Given the description of an element on the screen output the (x, y) to click on. 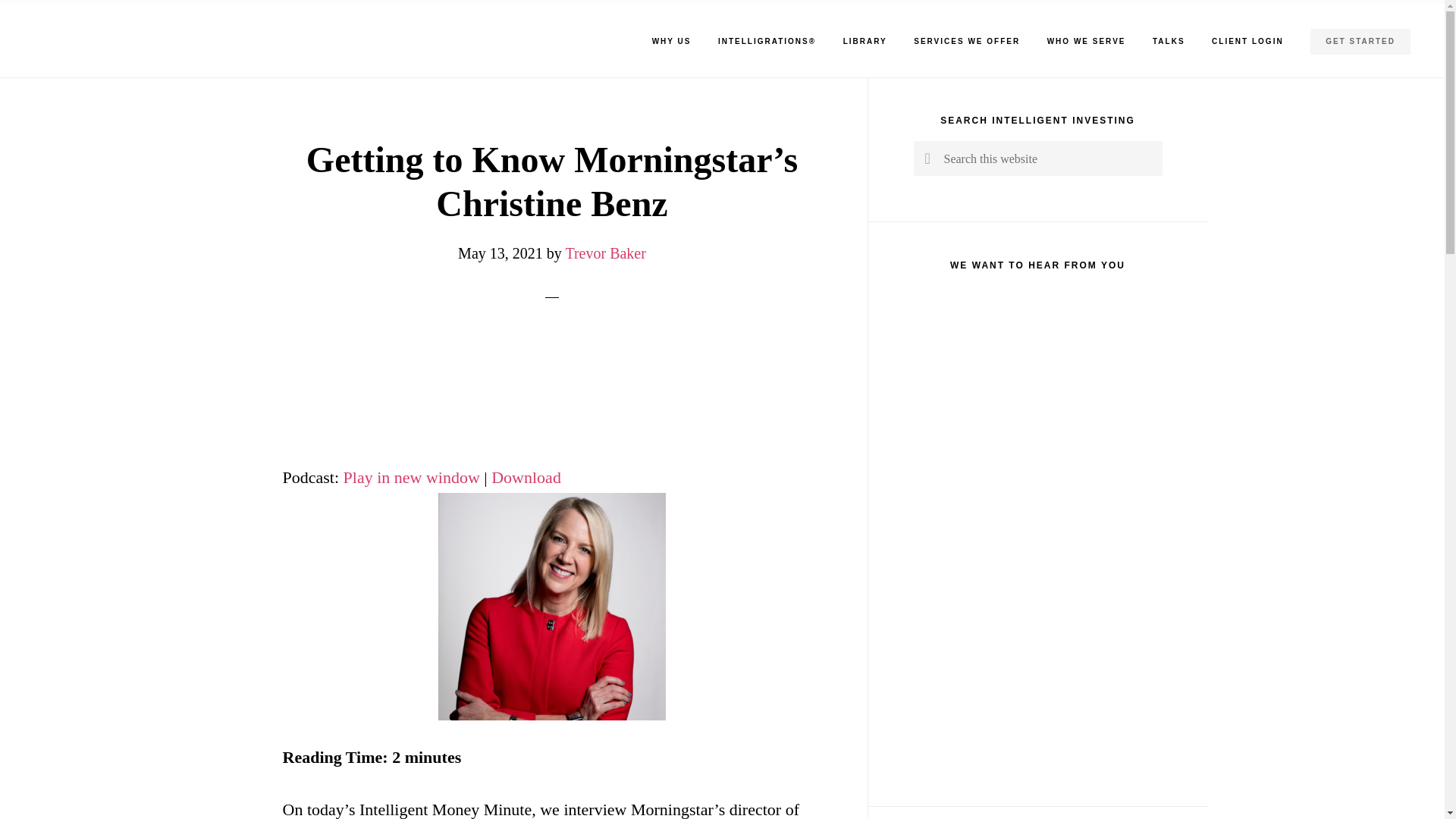
WHY US (671, 41)
LIBRARY (864, 41)
INTELLIGENT INVESTING (205, 30)
SERVICES WE OFFER (966, 41)
Play in new window (411, 476)
Download (526, 476)
Blubrry Podcast Player (551, 390)
